Given the description of an element on the screen output the (x, y) to click on. 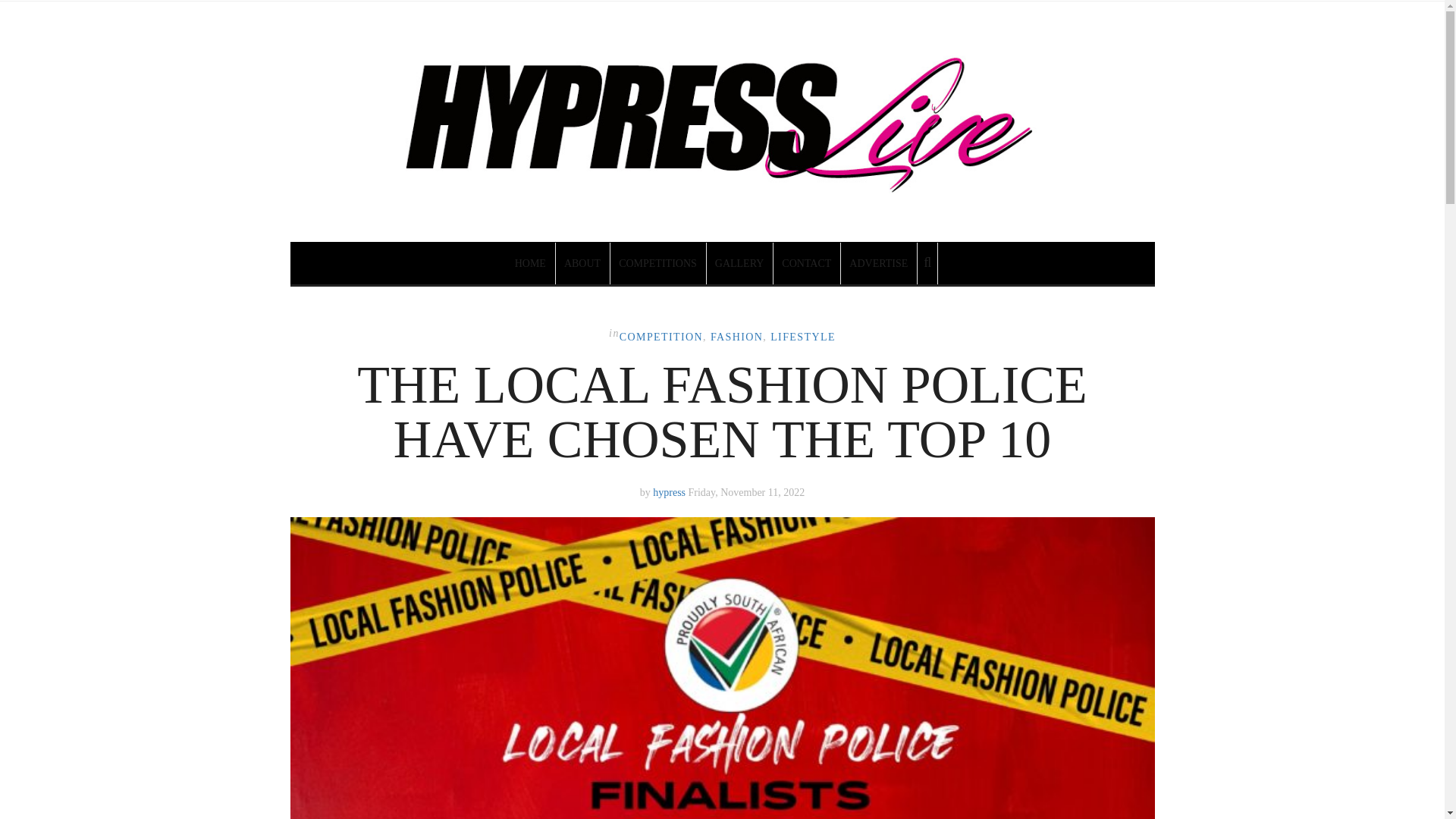
FASHION (736, 337)
CONTACT (807, 263)
COMPETITIONS (658, 263)
COMPETITION (661, 337)
GALLERY (740, 263)
ADVERTISE (879, 263)
Posts by hypress (668, 491)
HOME (531, 263)
hypress (668, 491)
LIFESTYLE (802, 337)
ABOUT (583, 263)
